Given the description of an element on the screen output the (x, y) to click on. 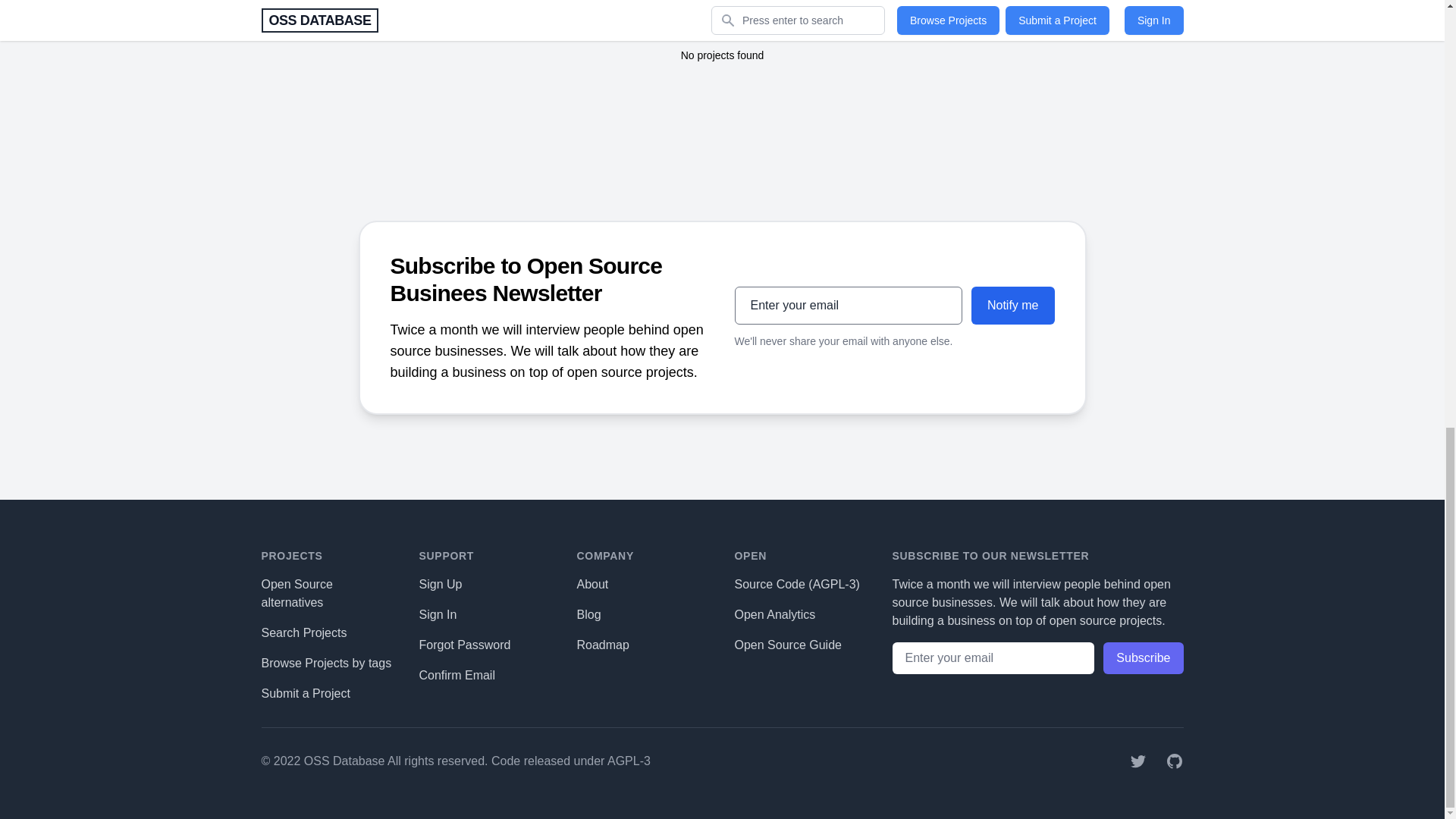
Sign Up (440, 583)
About (592, 583)
Browse Projects by tags (325, 662)
Search Projects (303, 631)
Open Source Guide (787, 644)
Blog (587, 613)
Sign In (438, 613)
Open Source alternatives (295, 592)
Forgot Password (465, 644)
Roadmap (602, 644)
Notify me (1012, 304)
Confirm Email (457, 674)
Submit a Project (304, 692)
Open Analytics (774, 613)
